Given the description of an element on the screen output the (x, y) to click on. 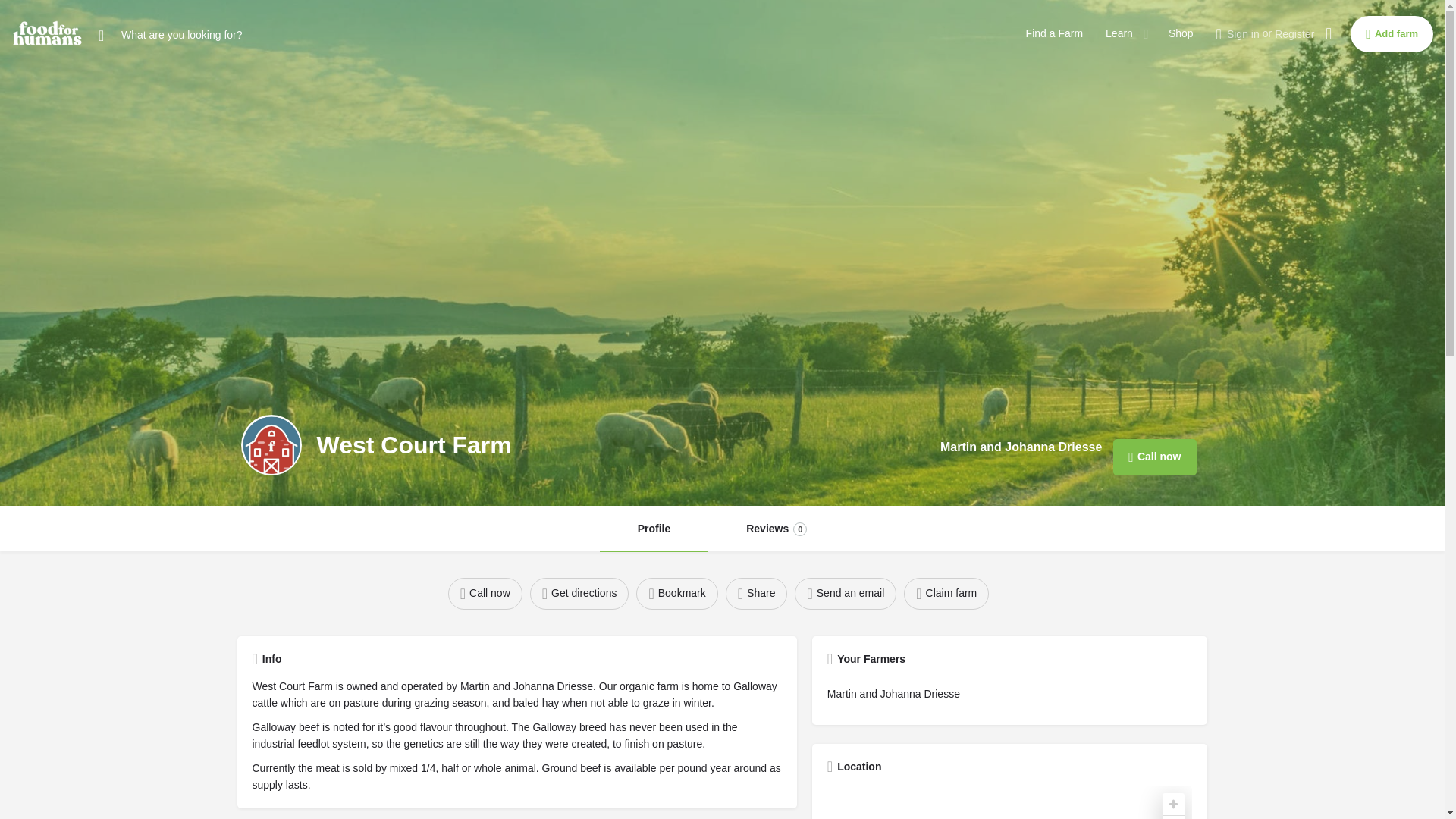
Register (1294, 33)
Zoom in (1173, 803)
Bookmark (676, 593)
Shop (1181, 32)
Zoom out (1173, 816)
View your shopping cart (1328, 33)
Add farm (1391, 33)
Call now (485, 593)
Find a Farm (1054, 32)
Send an email (845, 593)
Get directions (578, 593)
Share (775, 529)
Profile (756, 593)
Learn (654, 529)
